Given the description of an element on the screen output the (x, y) to click on. 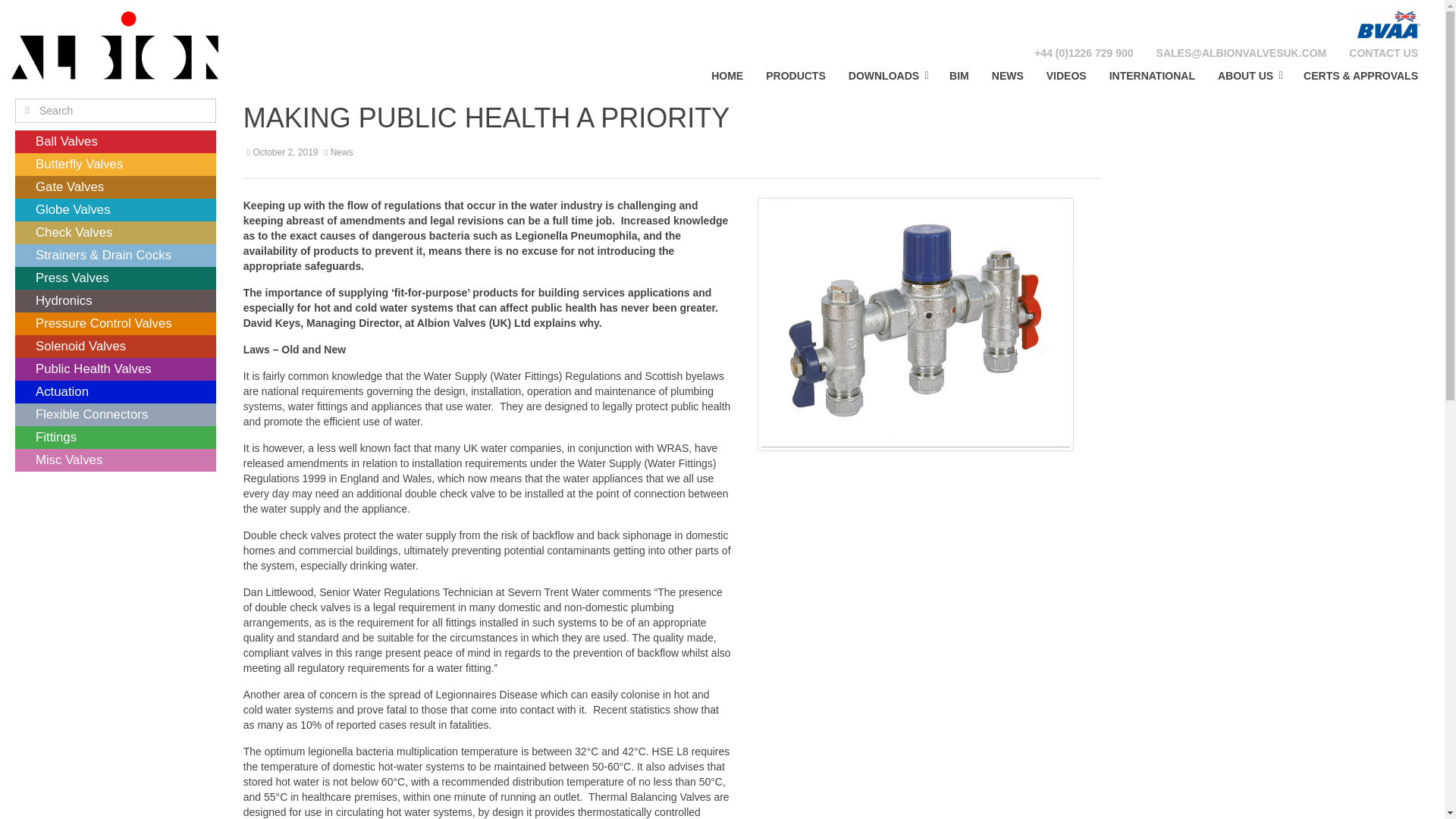
PRODUCTS (795, 75)
CONTACT US (1383, 52)
NEWS (1007, 75)
HOME (727, 75)
BIM (958, 75)
ABOUT US (1249, 75)
INTERNATIONAL (1152, 75)
DOWNLOADS (887, 75)
VIDEOS (1066, 75)
